Given the description of an element on the screen output the (x, y) to click on. 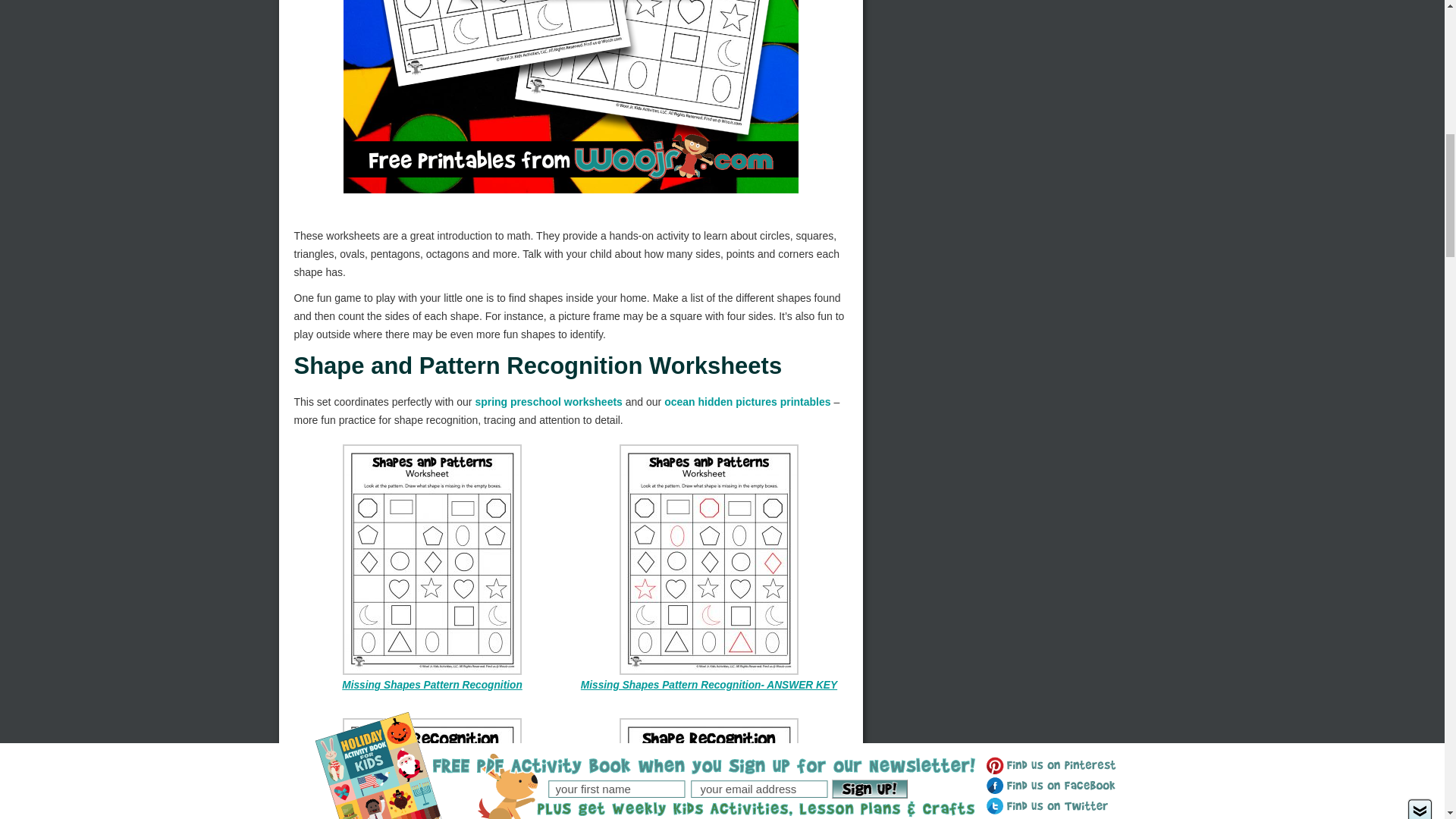
Missing Shapes Pattern Recognition (432, 685)
Missing Shapes Pattern Recognition- ANSWER KEY (708, 685)
